Given the description of an element on the screen output the (x, y) to click on. 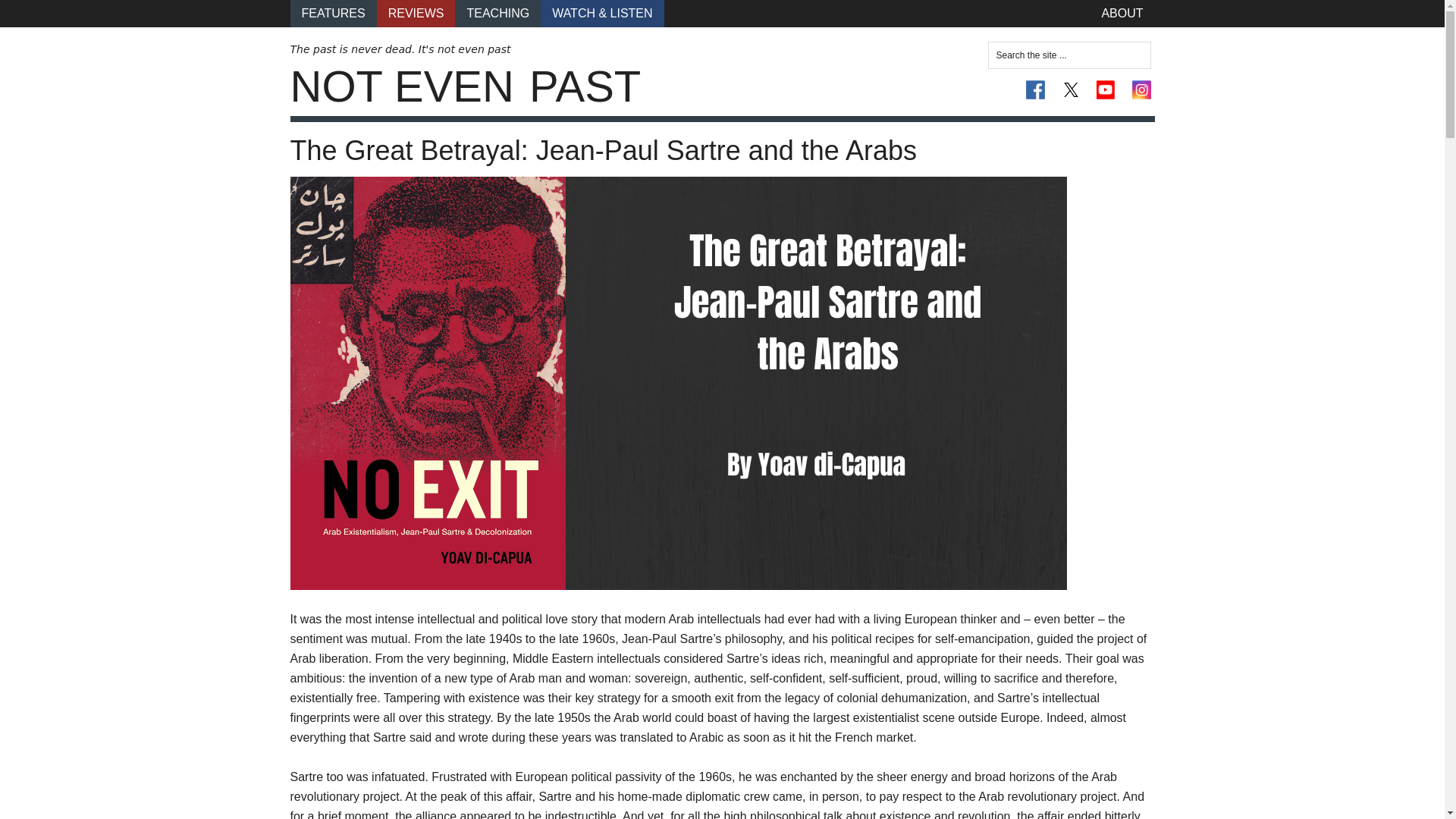
NOT EVEN PAST (464, 85)
The Great Betrayal: Jean-Paul Sartre and the Arabs (602, 150)
FEATURES (332, 13)
TEACHING (497, 13)
Instagram (1140, 89)
REVIEWS (416, 13)
On Twitter (1070, 89)
ABOUT (1121, 13)
